Given the description of an element on the screen output the (x, y) to click on. 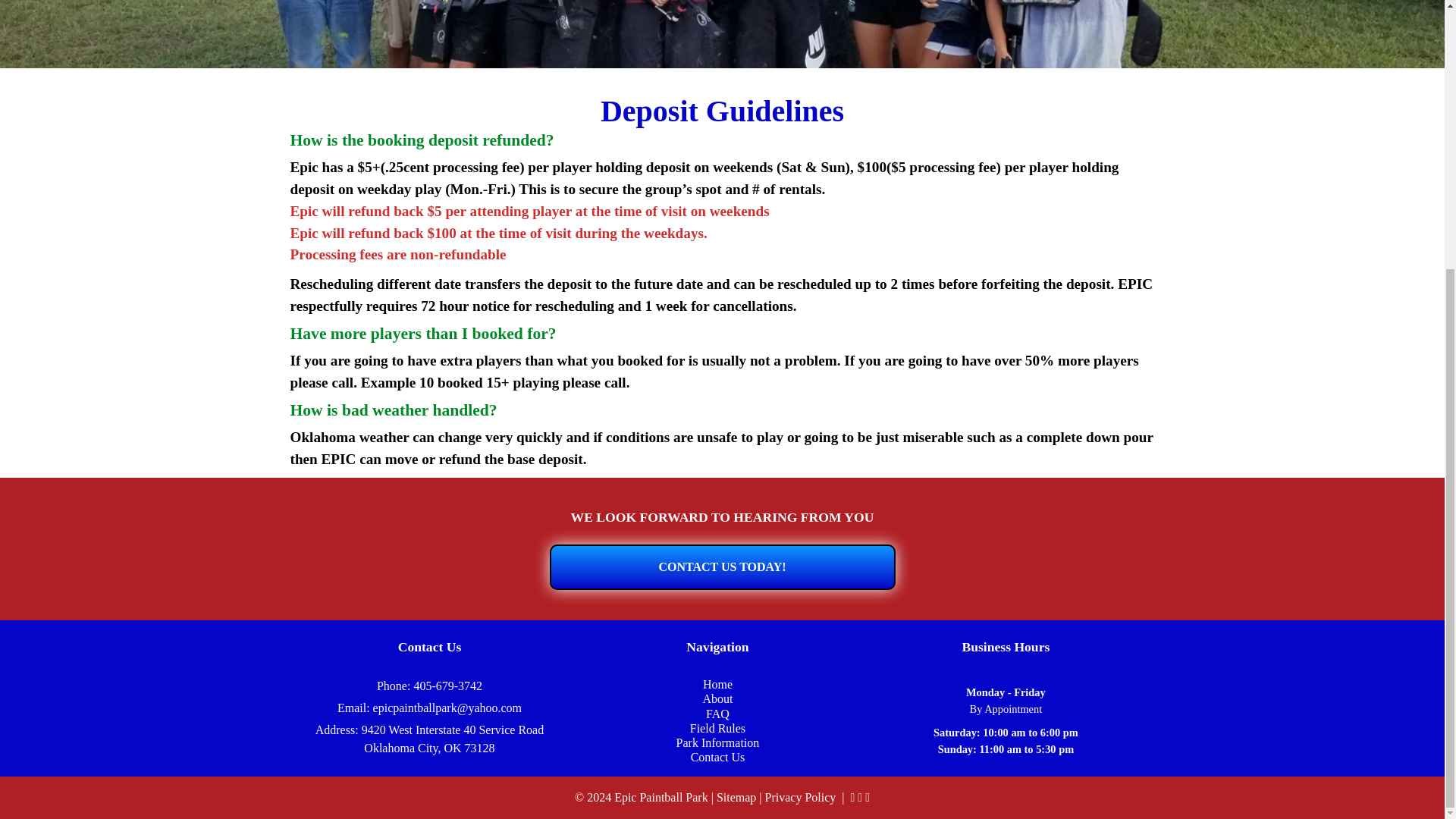
Home (717, 684)
CONTACT US TODAY! (721, 566)
Contact Us (717, 757)
Park Information (718, 742)
About (716, 698)
Social Media Links (858, 797)
FAQ (717, 713)
405-679-3742 (447, 685)
Field Rules (717, 727)
